Given the description of an element on the screen output the (x, y) to click on. 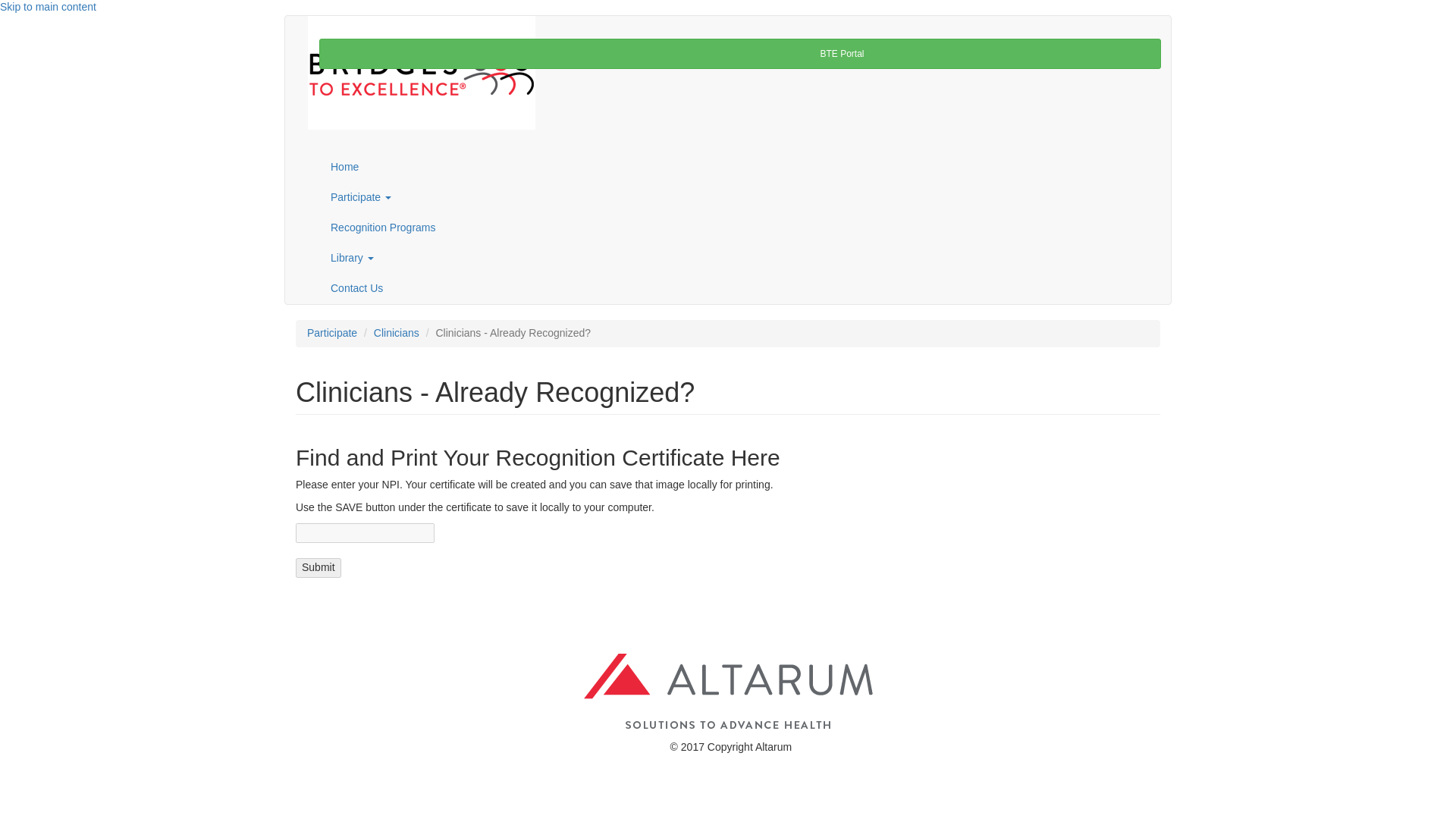
Contact Us (739, 288)
Home (739, 167)
BTE Portal (739, 53)
Clinicians (396, 332)
Home (421, 72)
Participate (739, 197)
Recognition Programs (739, 227)
Library (739, 258)
Skip to main content (48, 6)
Submit (317, 567)
